Given the description of an element on the screen output the (x, y) to click on. 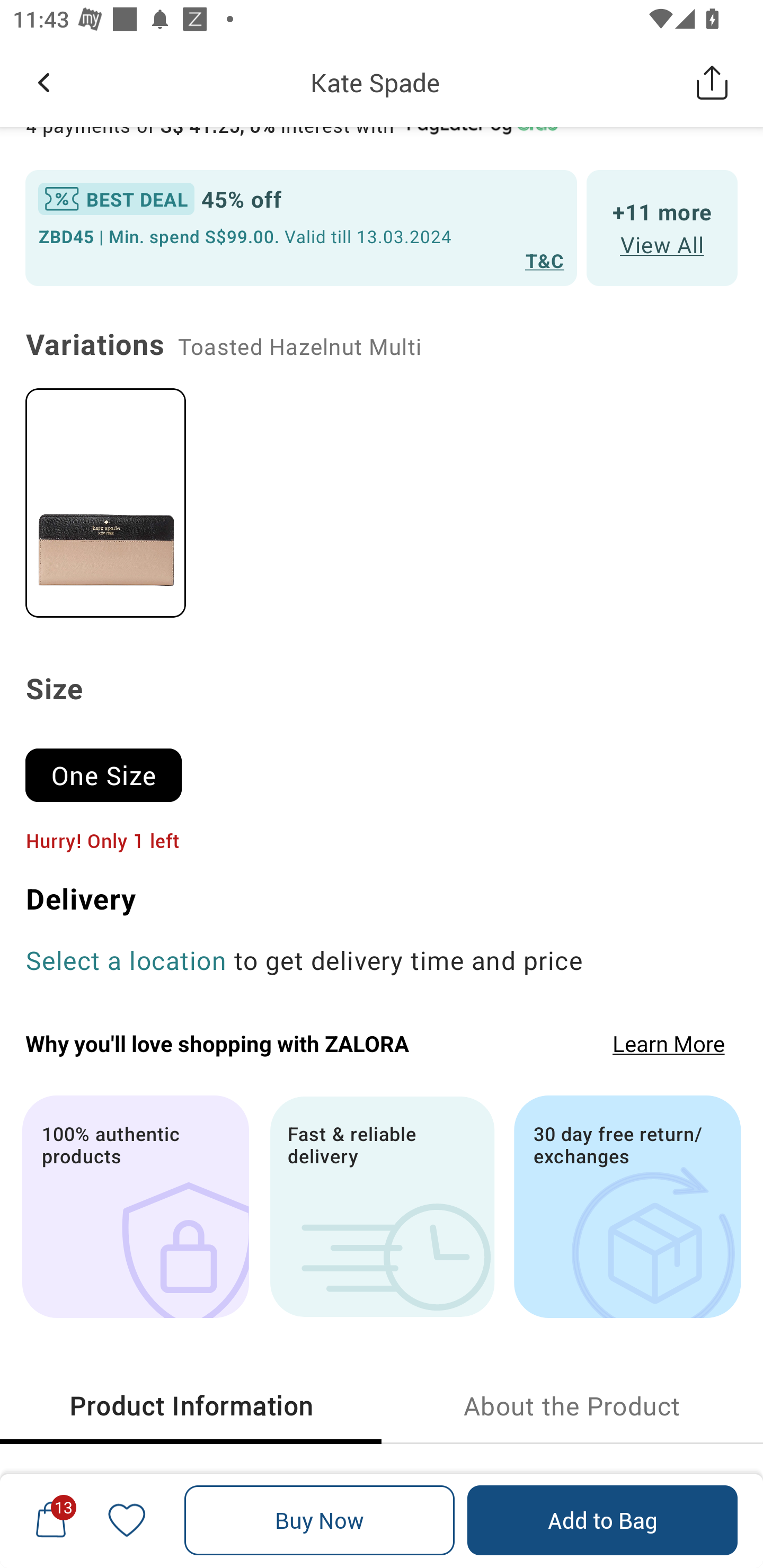
Kate Spade (375, 82)
Share this Product (711, 82)
+11 more
View All (661, 227)
T&C (544, 259)
One Size (111, 767)
Learn More (668, 1043)
100% authentic products (135, 1206)
Fast & reliable delivery (381, 1206)
30 day free return/exchanges (627, 1206)
About the Product (572, 1405)
Buy Now (319, 1519)
Add to Bag (601, 1519)
13 (50, 1520)
